Given the description of an element on the screen output the (x, y) to click on. 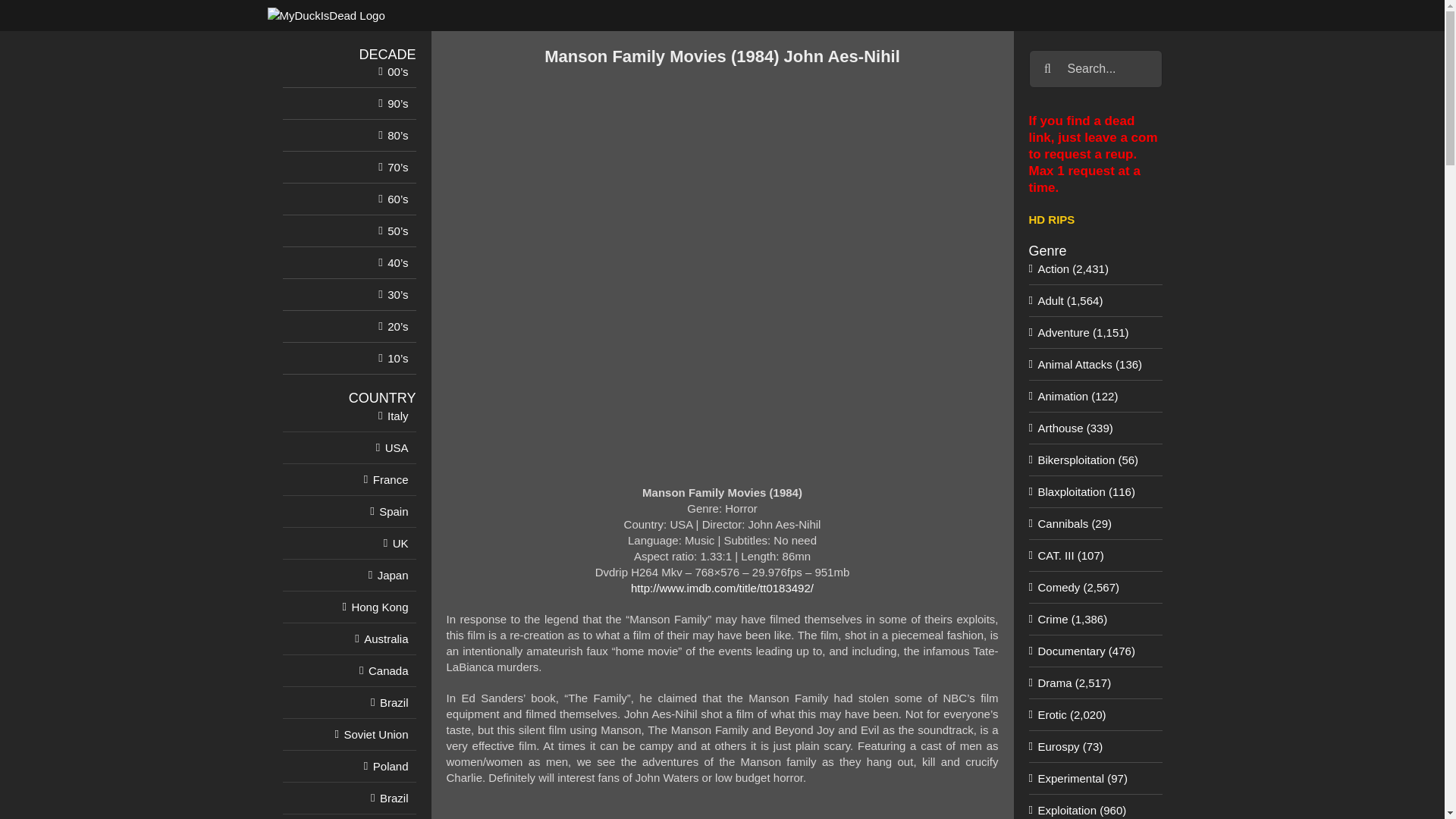
UK (401, 543)
Spain (392, 511)
Australia (385, 638)
Brazil (394, 702)
Japan (393, 574)
USA (397, 447)
Canada (388, 670)
France (390, 479)
Italy (398, 415)
Hong Kong (378, 606)
